Given the description of an element on the screen output the (x, y) to click on. 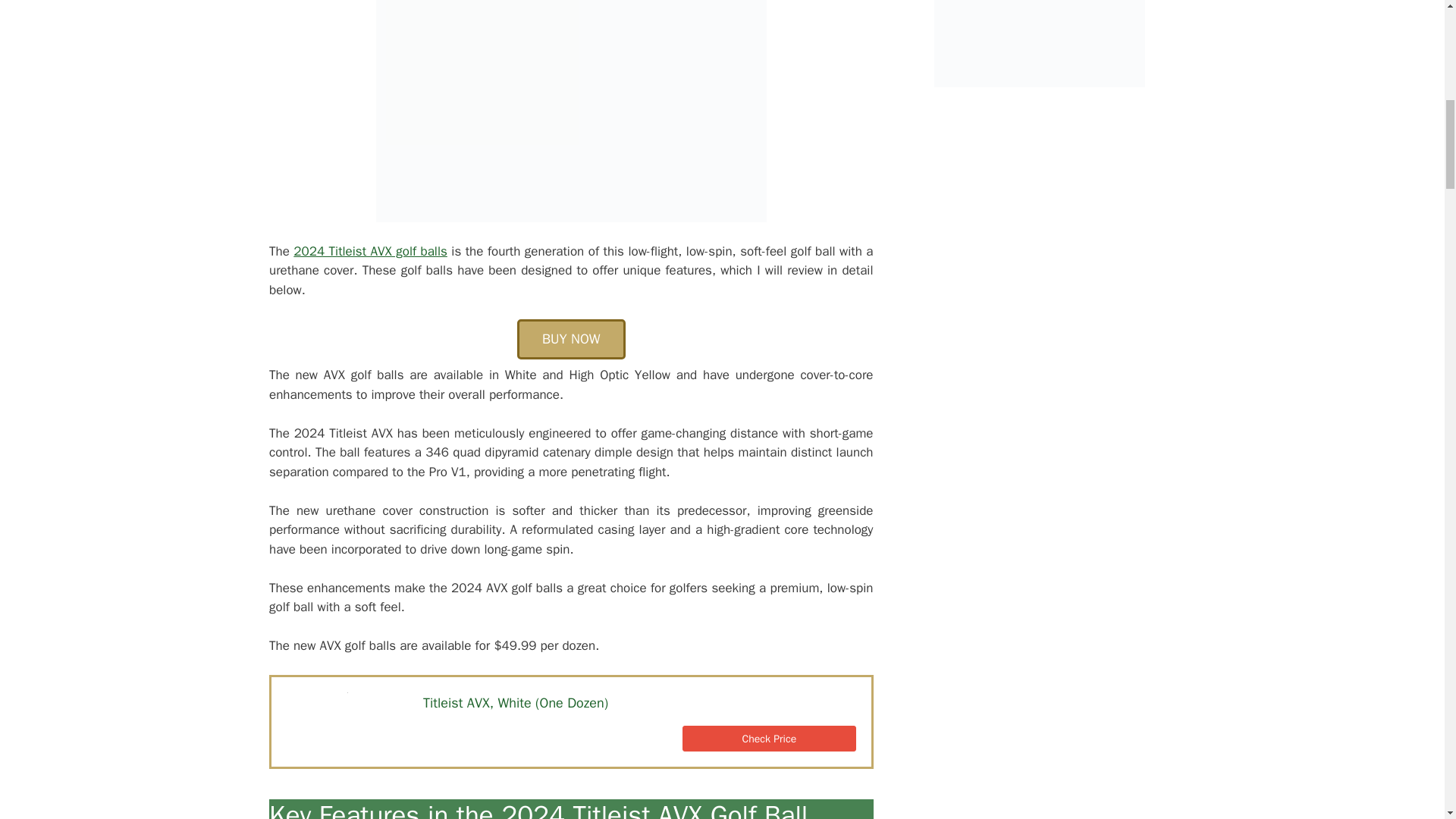
Check Price (769, 738)
